Given the description of an element on the screen output the (x, y) to click on. 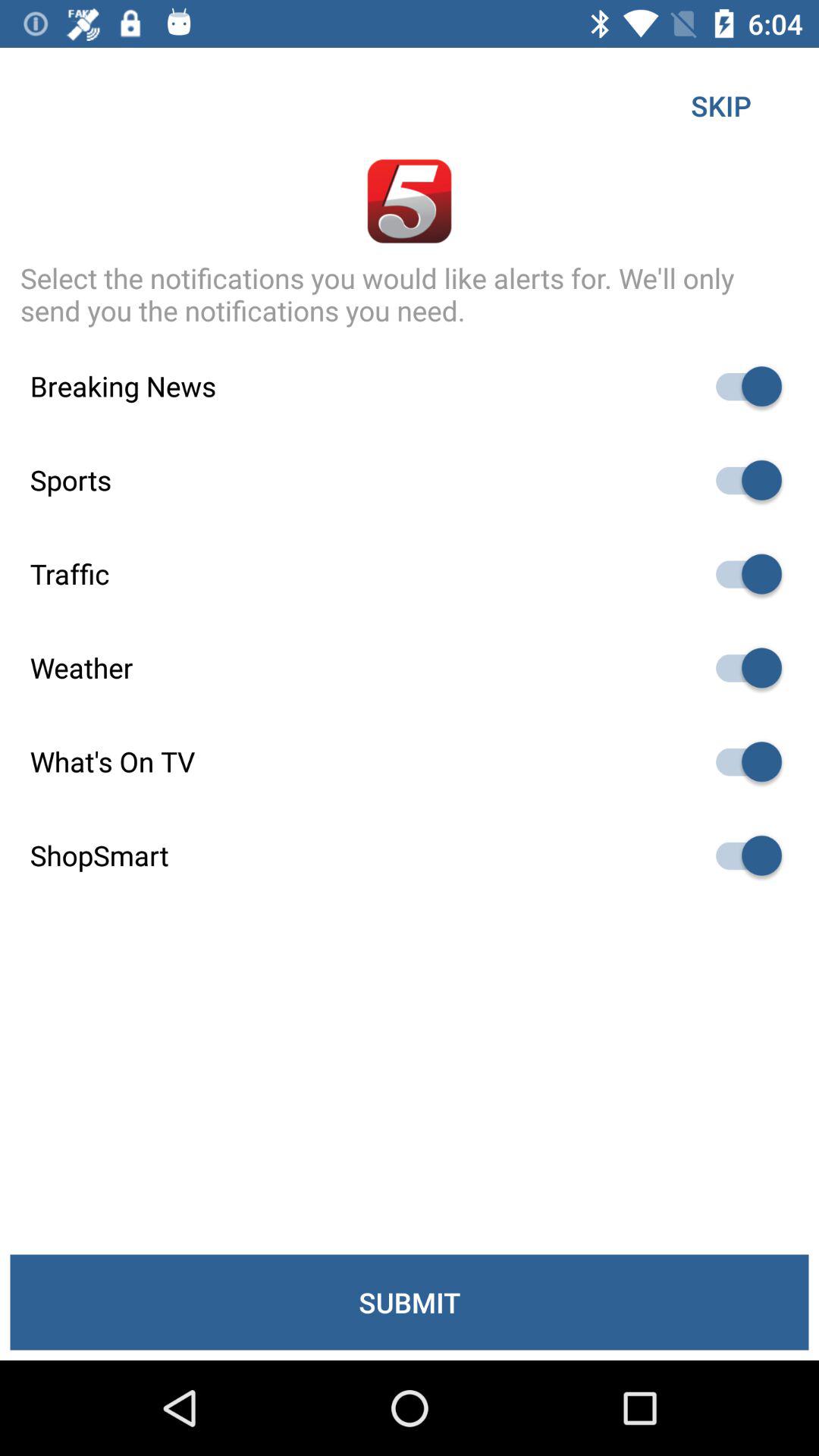
turn off notification (741, 855)
